Given the description of an element on the screen output the (x, y) to click on. 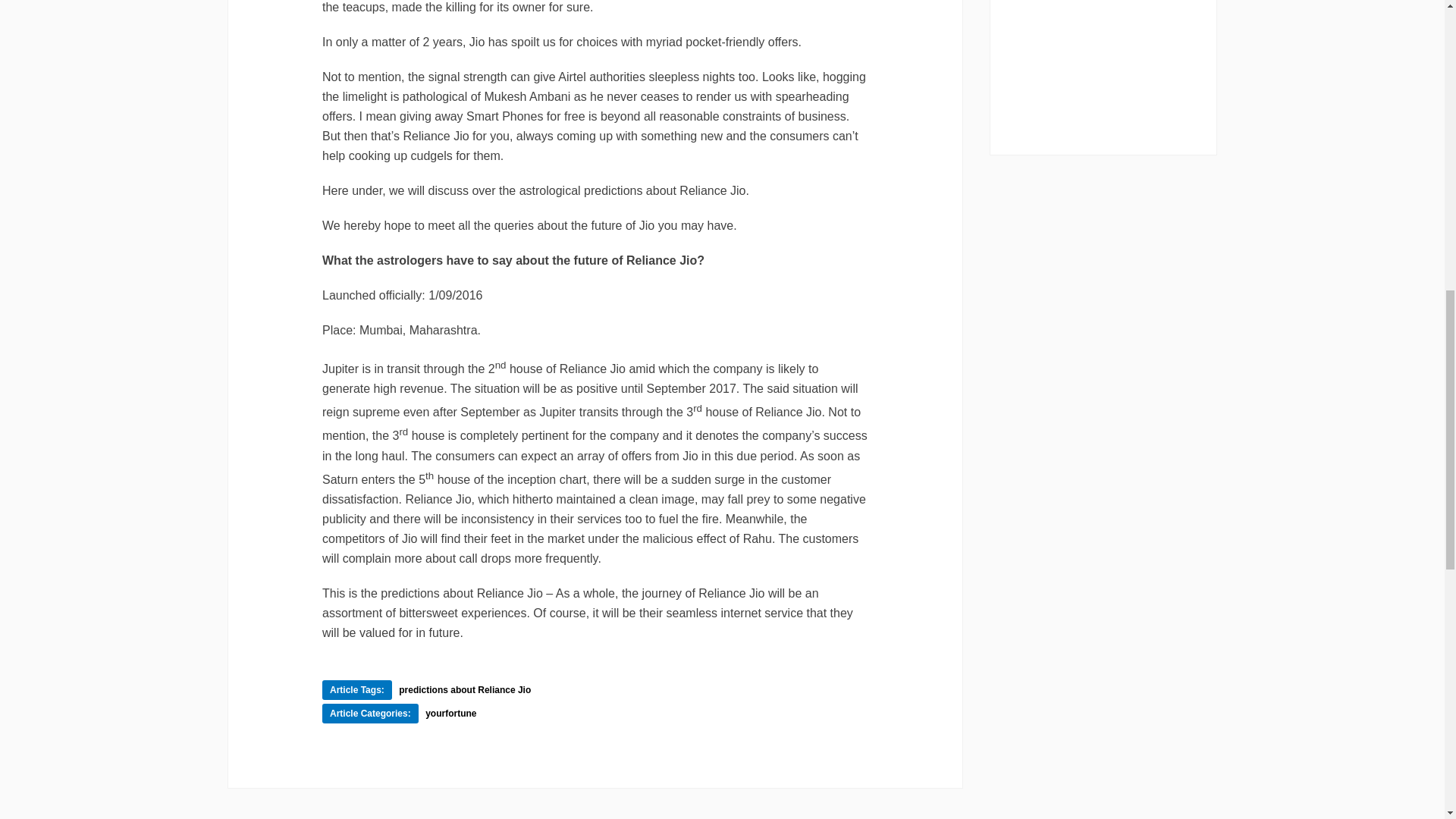
Advertisement (1103, 77)
predictions about Reliance Jio (464, 689)
yourfortune (450, 713)
